Given the description of an element on the screen output the (x, y) to click on. 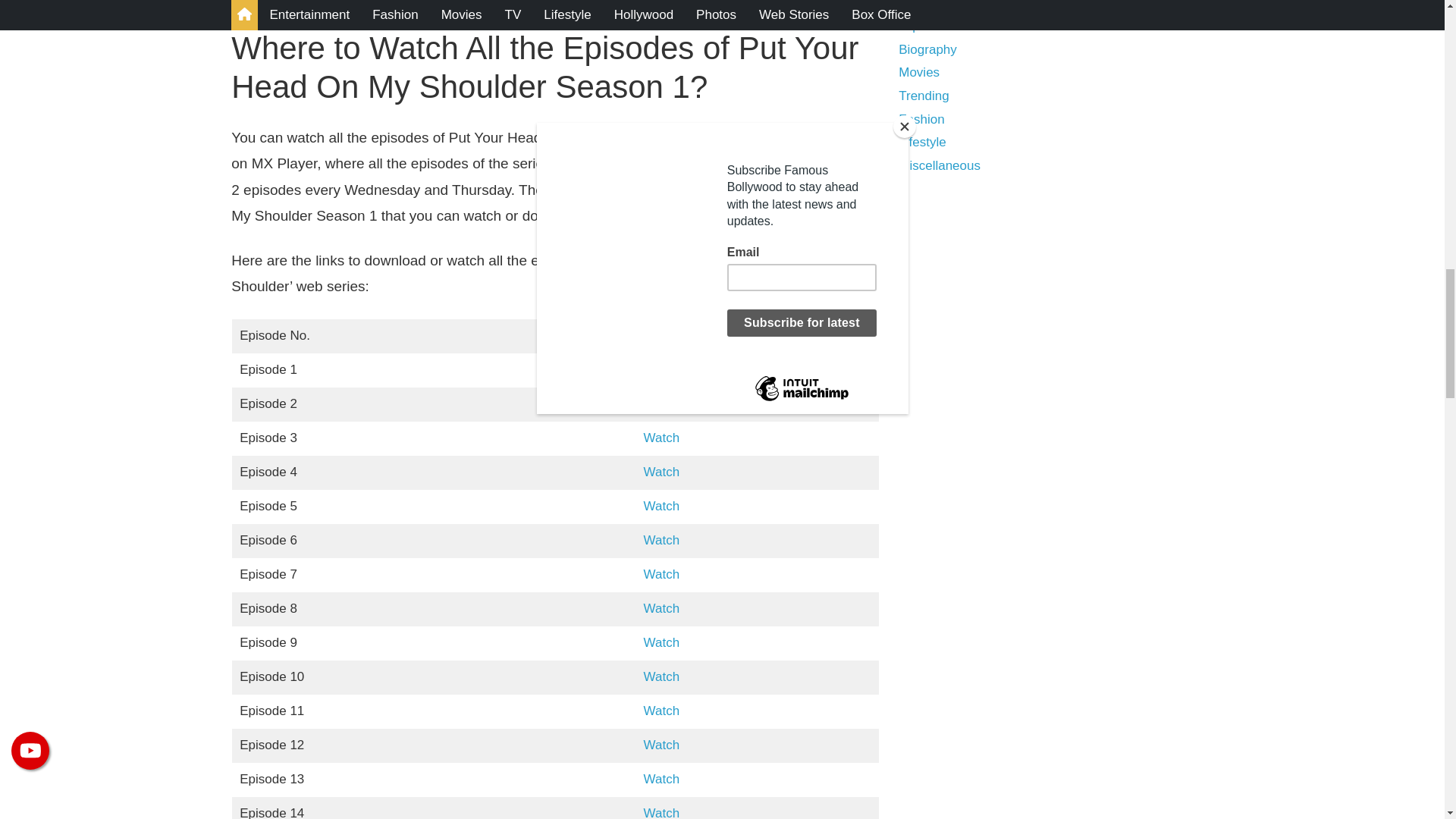
Watch (661, 403)
Watch (661, 505)
Watch (661, 540)
Watch (661, 369)
Watch (661, 437)
Watch (661, 472)
